Given the description of an element on the screen output the (x, y) to click on. 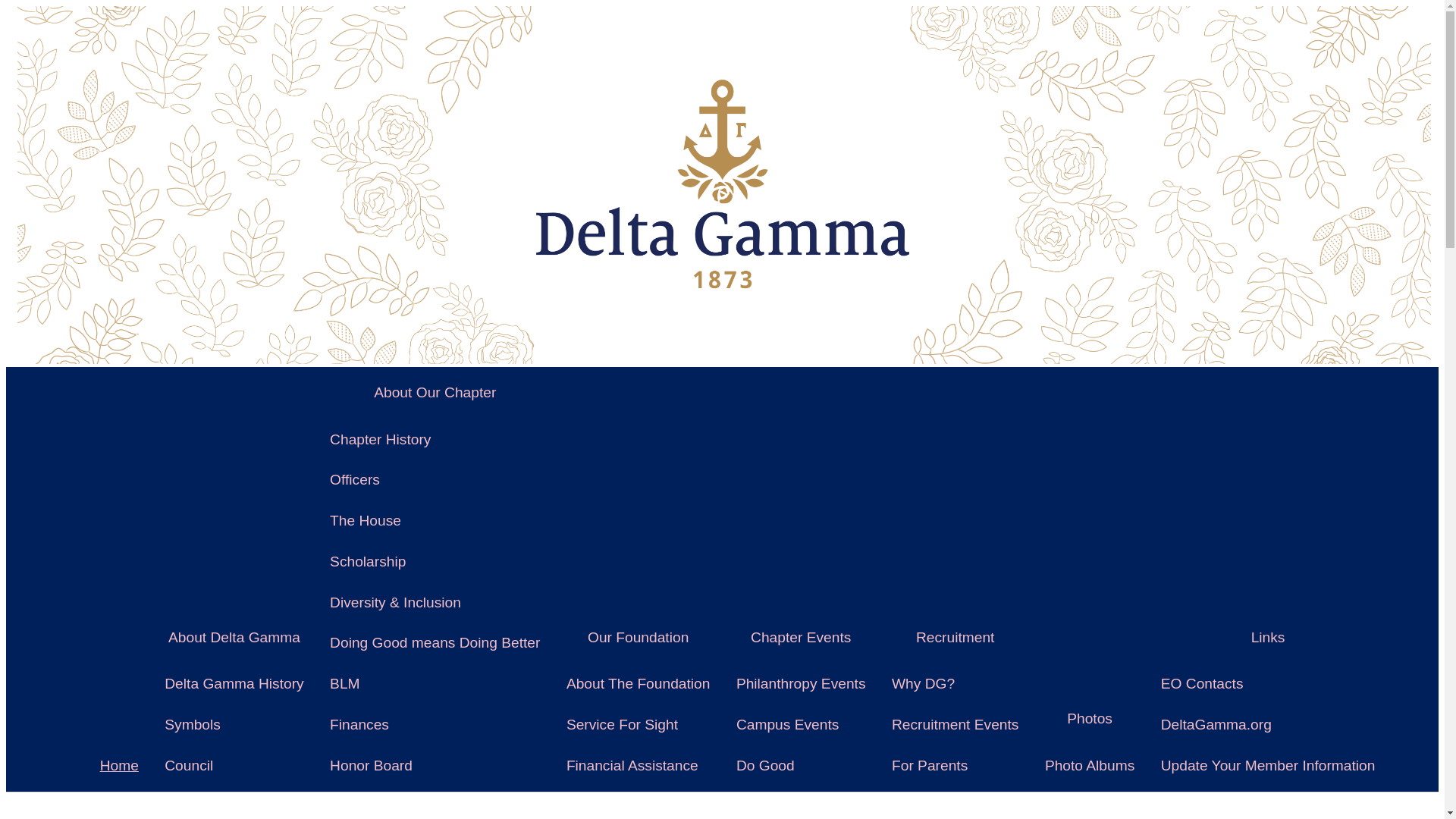
Financial Assistance (638, 765)
Finances (434, 724)
Symbols (233, 724)
Campus Events (801, 724)
Update Your Member Information (1268, 765)
About Delta Gamma (234, 637)
Recruitment (955, 637)
Do Good (801, 765)
EO Contacts (1268, 683)
Service For Sight (638, 724)
Photo Albums (1089, 765)
Delta Gamma History (233, 683)
Chapter Events (800, 637)
About The Foundation (638, 683)
Photos (1089, 718)
